Given the description of an element on the screen output the (x, y) to click on. 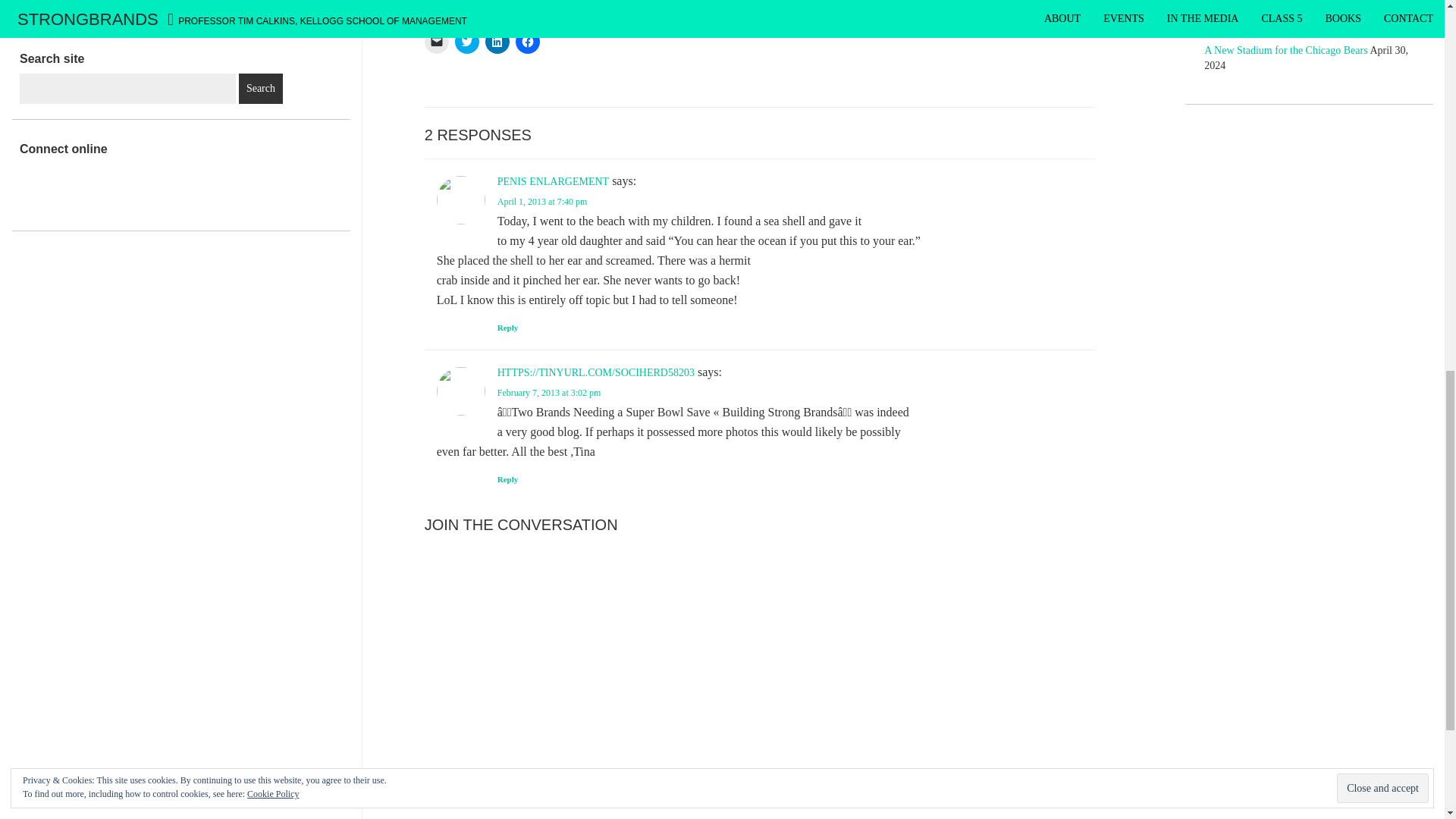
Reply (507, 327)
February 7, 2013 at 3:02 pm (549, 392)
Reply (507, 479)
Click to share on Twitter (466, 41)
Click to email a link to a friend (436, 41)
Search (260, 88)
PENIS ENLARGEMENT (552, 181)
Click to share on Facebook (527, 41)
Click to share on LinkedIn (496, 41)
April 1, 2013 at 7:40 pm (542, 201)
